Given the description of an element on the screen output the (x, y) to click on. 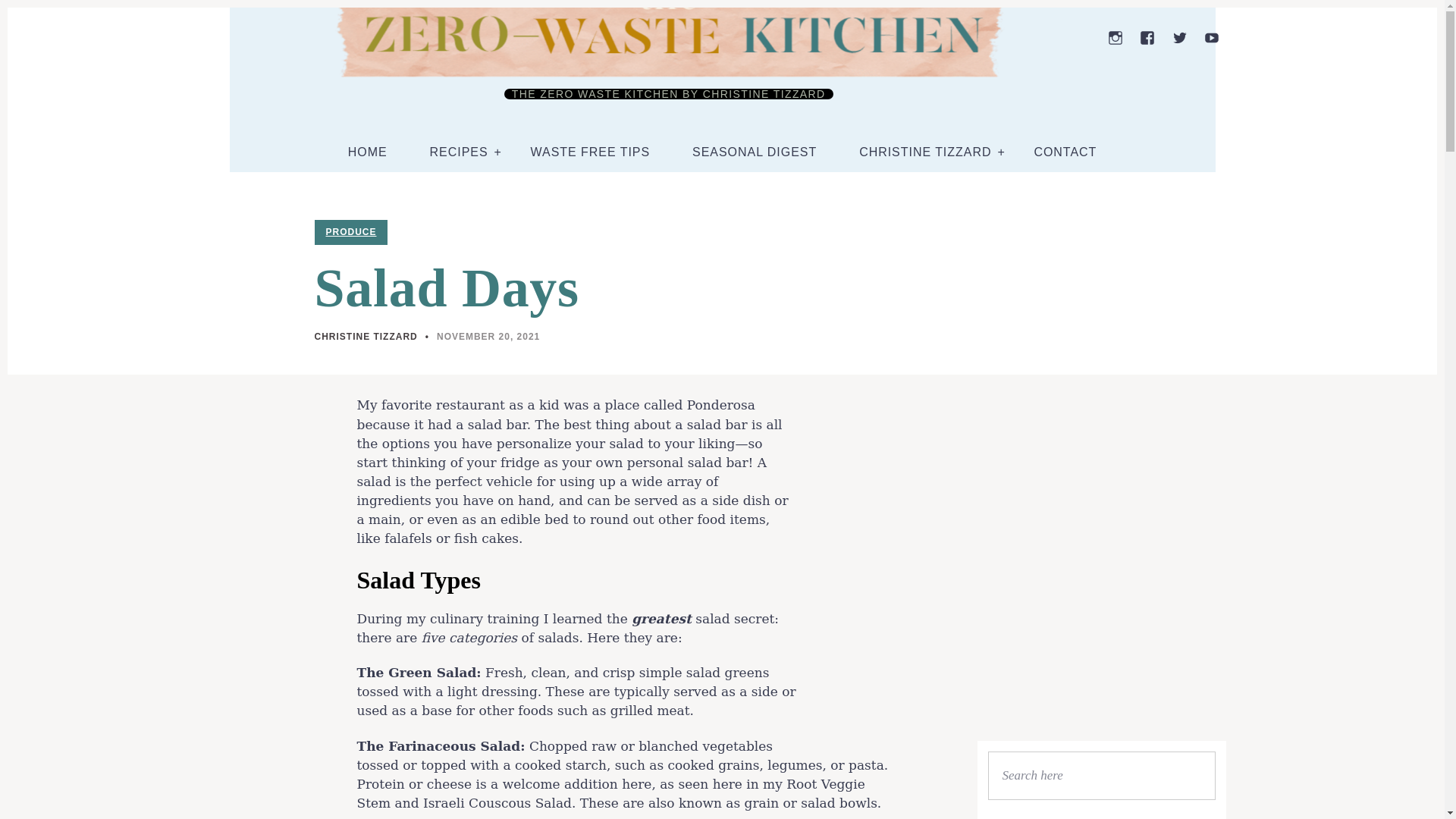
Search (1193, 775)
CONTACT (1064, 151)
INSTAGRAM (1115, 37)
FACEBOOK (1147, 37)
TWITTER (1180, 37)
NOVEMBER 20, 2021 (488, 336)
HOME (367, 151)
Produce (350, 232)
CHRISTINE TIZZARD (365, 336)
SEASONAL DIGEST (754, 151)
CHRISTINE TIZZARD (925, 151)
WASTE FREE TIPS (590, 151)
YOUTUBE (1212, 37)
PRODUCE (350, 232)
